Given the description of an element on the screen output the (x, y) to click on. 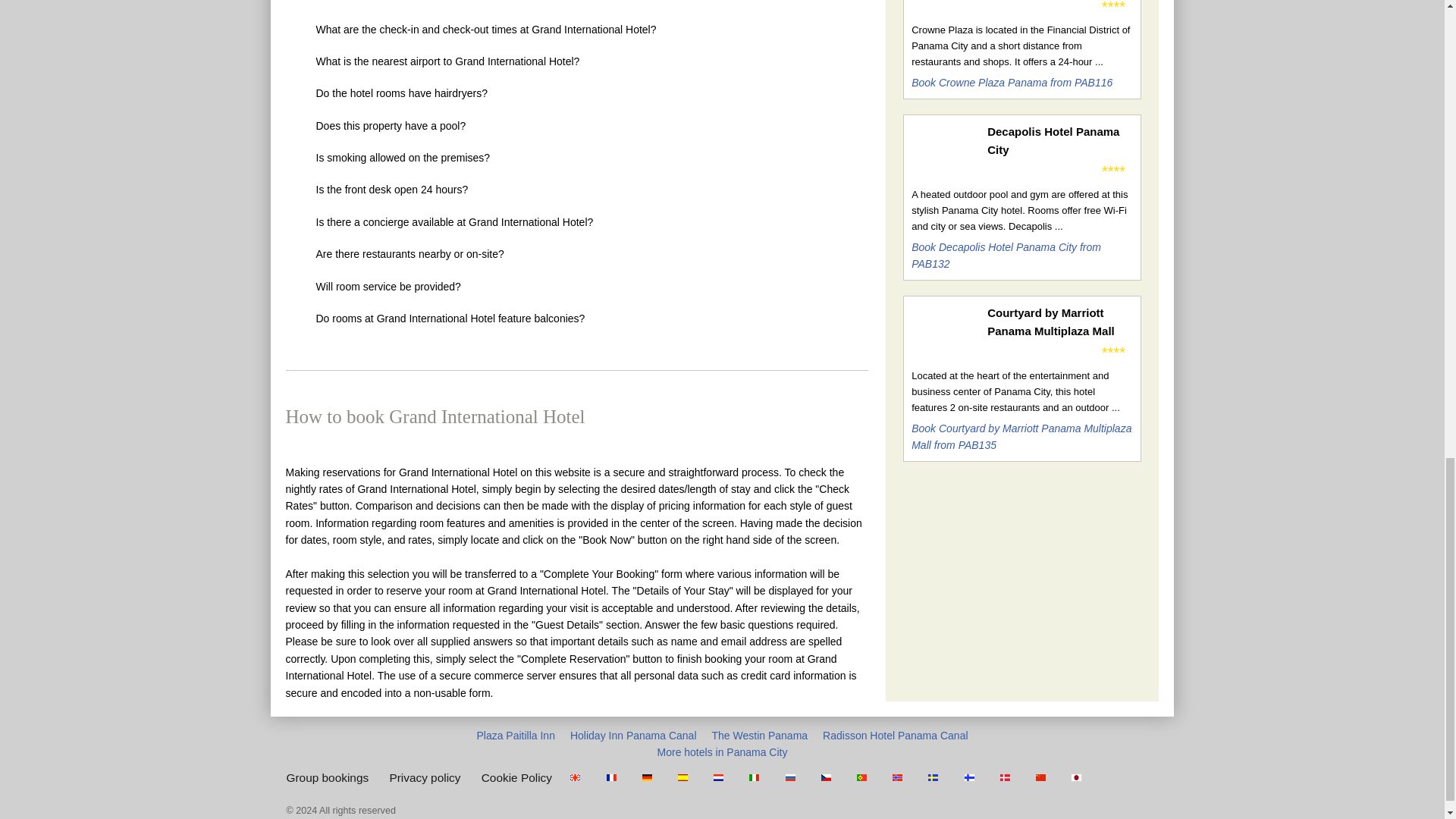
Holiday Inn Panama Canal (633, 735)
Decapolis Hotel Panama City (1059, 140)
Radisson Hotel Panama Canal (895, 735)
Privacy policy (424, 777)
Group bookings (327, 777)
Courtyard by Marriott Panama Multiplaza Mall (1059, 321)
Book Crowne Plaza Panama from PAB116 (1011, 82)
Book Decapolis Hotel Panama City from PAB132 (1005, 255)
More hotels in Panama City (722, 752)
Plaza Paitilla Inn (515, 735)
